Given the description of an element on the screen output the (x, y) to click on. 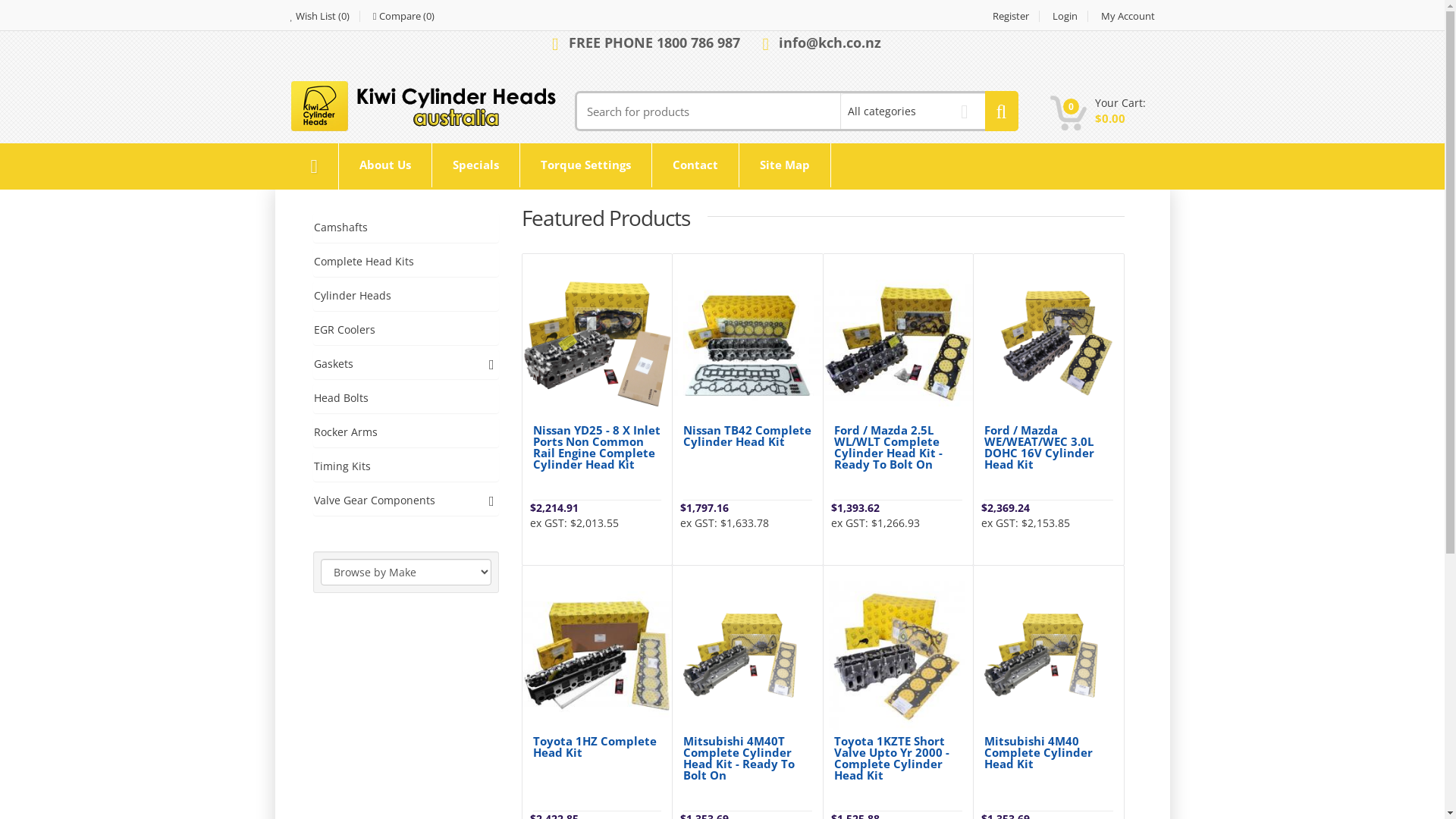
Login Element type: text (1064, 15)
Toyota 1HZ Complete Head Kit Element type: text (596, 746)
Gaskets Element type: text (405, 363)
Rocker Arms Element type: text (405, 431)
Specials Element type: text (475, 164)
My Account Element type: text (1122, 15)
Site Map Element type: text (784, 164)
EGR Coolers Element type: text (405, 329)
Wish List (0) Element type: text (324, 15)
Timing Kits Element type: text (405, 465)
Register Element type: text (1010, 15)
Mitsubishi 4M40 Complete Cylinder Head Kit Element type: text (1048, 752)
Camshafts Element type: text (405, 227)
Compare (0) Element type: text (398, 15)
Nissan TB42 Complete Cylinder Head Kit Element type: text (747, 435)
Contact Element type: text (695, 164)
Kiwi Cylinder Heads Pty Ltd Element type: hover (425, 106)
Head Bolts Element type: text (405, 397)
Ford / Mazda WE/WEAT/WEC 3.0L DOHC 16V Cylinder Head Kit Element type: text (1048, 447)
About Us Element type: text (384, 164)
Complete Head Kits Element type: text (405, 261)
Valve Gear Components Element type: text (405, 500)
Cylinder Heads Element type: text (405, 295)
Torque Settings Element type: text (585, 164)
